Given the description of an element on the screen output the (x, y) to click on. 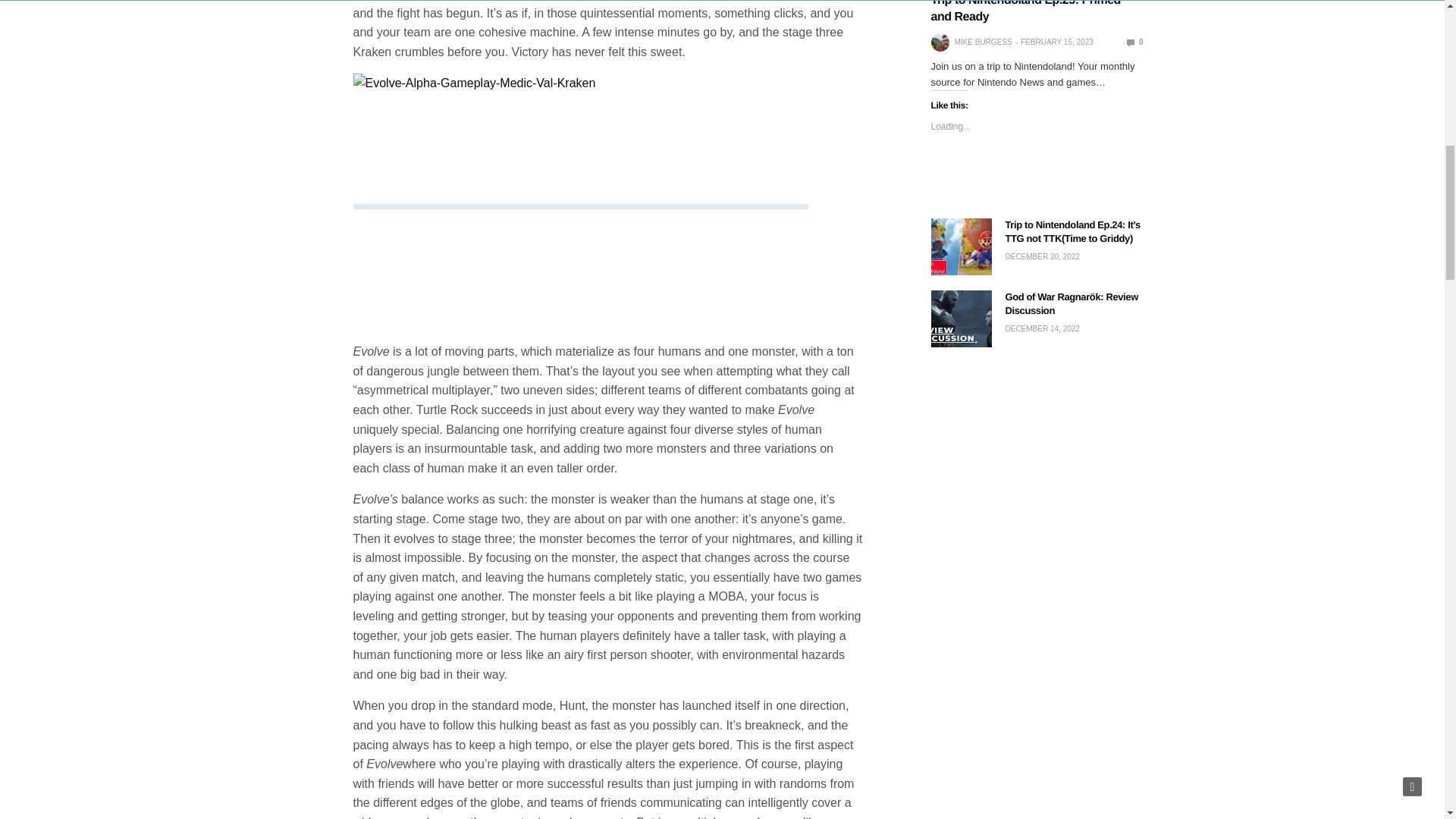
Trip to Nintendoland Ep.25: Primed and Ready (1134, 41)
Posts by Mike Burgess (982, 42)
Like or Reblog (1036, 182)
Trip to Nintendoland Ep.25: Primed and Ready (1026, 11)
